Given the description of an element on the screen output the (x, y) to click on. 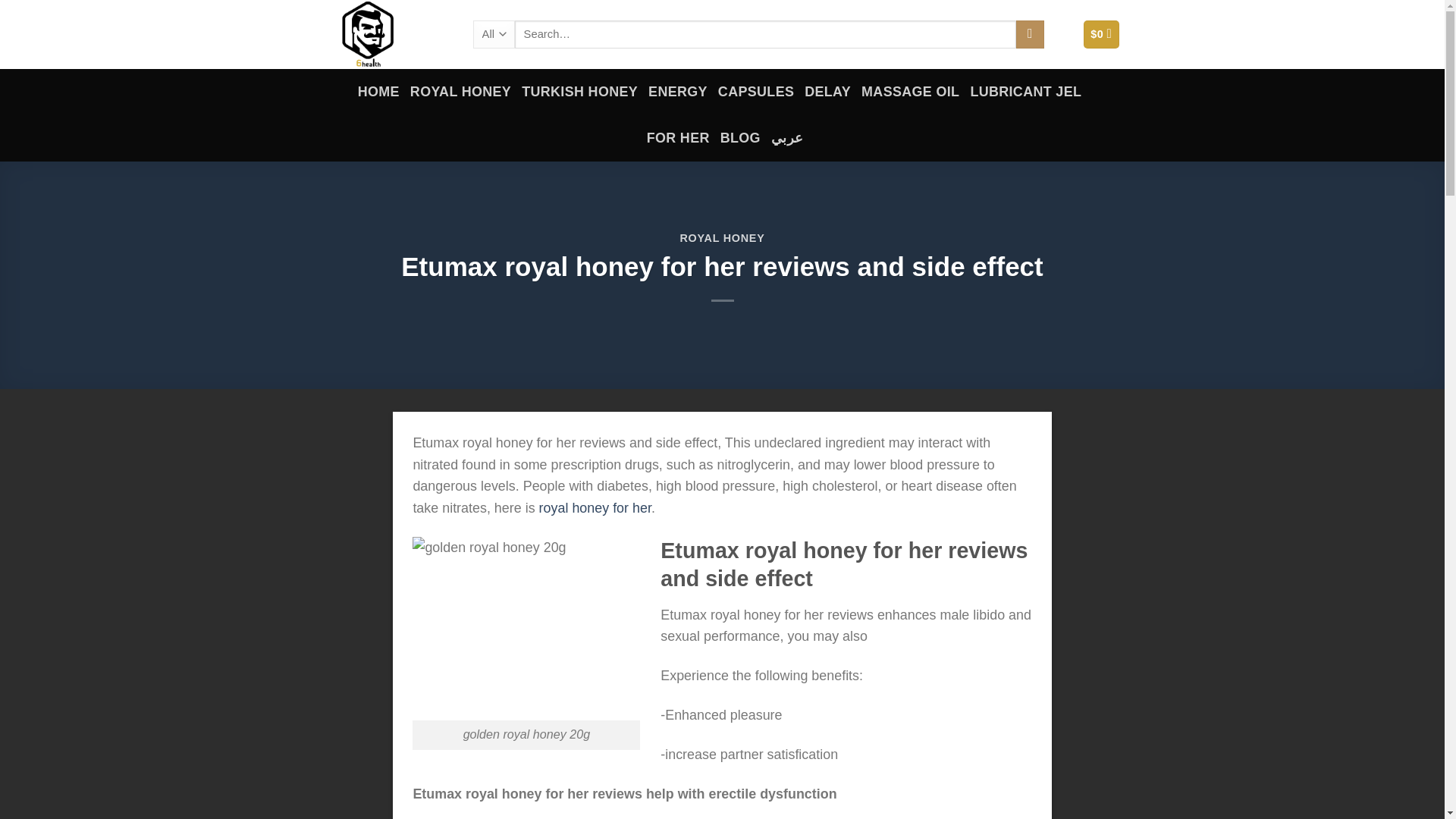
FOR HER (678, 138)
DELAY (827, 91)
Search (1029, 34)
ROYAL HONEY (460, 91)
CAPSULES (755, 91)
HOME (378, 91)
TURKISH HONEY (579, 91)
ENERGY (677, 91)
royal honey for her (594, 507)
MASSAGE OIL (910, 91)
ROYAL HONEY (721, 237)
LUBRICANT JEL (1025, 91)
Cart (1101, 33)
6 Health (386, 34)
BLOG (740, 138)
